Given the description of an element on the screen output the (x, y) to click on. 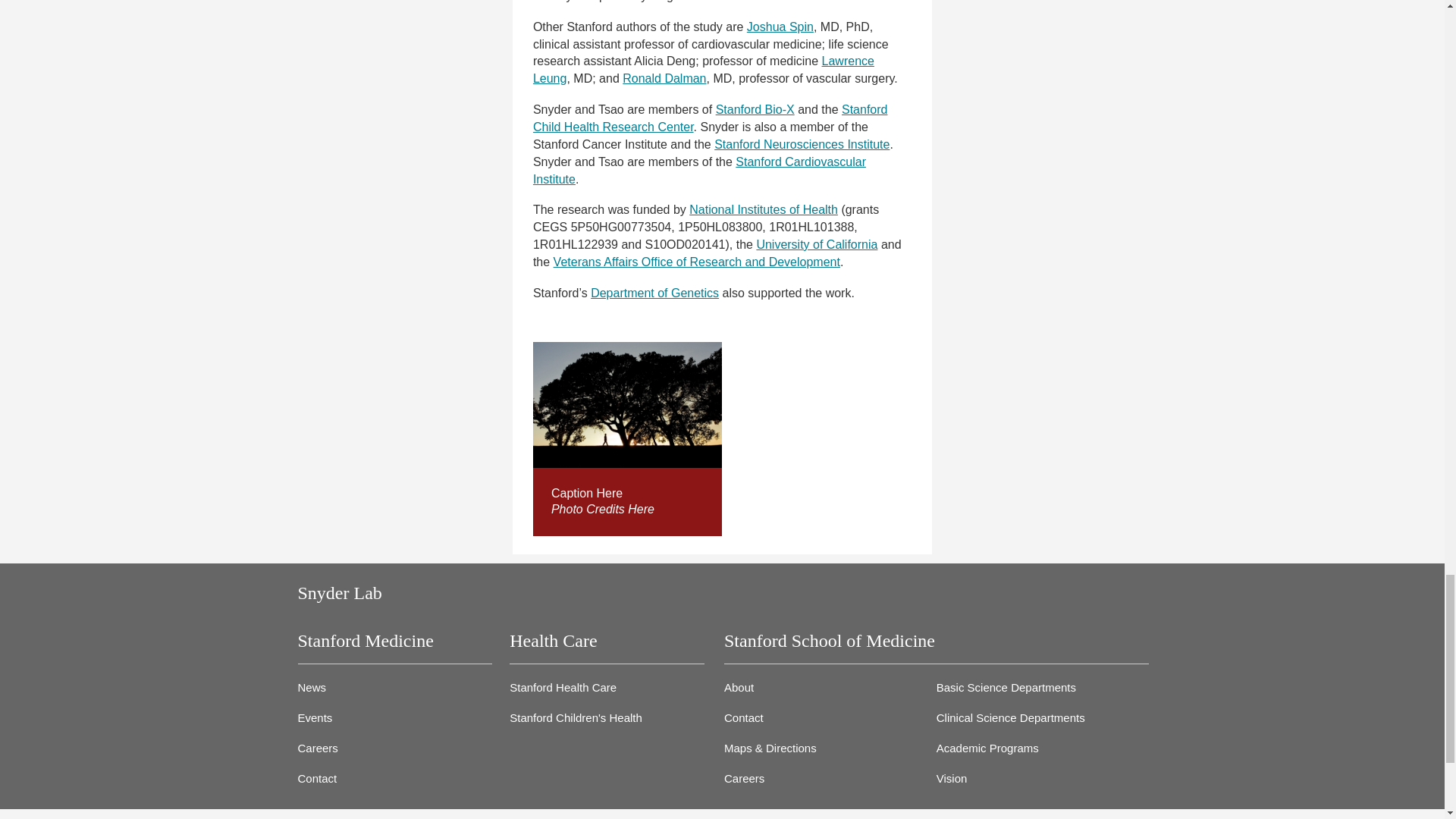
test  (627, 404)
